Given the description of an element on the screen output the (x, y) to click on. 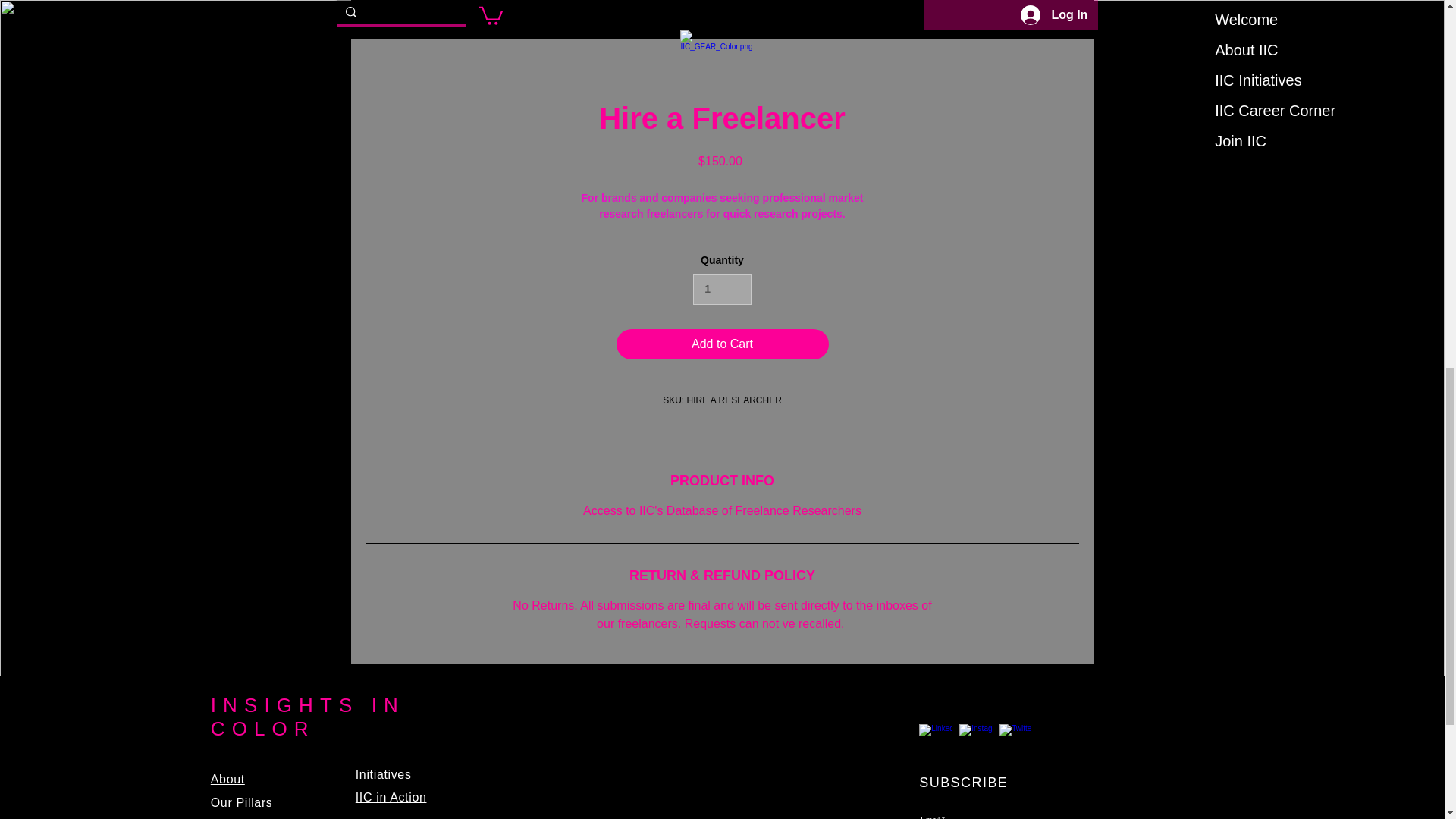
Career Corner (375, 818)
INSIGHTS IN COLOR (307, 716)
Our Pillars (242, 802)
Initiatives (383, 774)
IIC in Action (390, 797)
Add to Cart (721, 344)
Ways to Join (248, 818)
About (227, 779)
1 (722, 288)
